Given the description of an element on the screen output the (x, y) to click on. 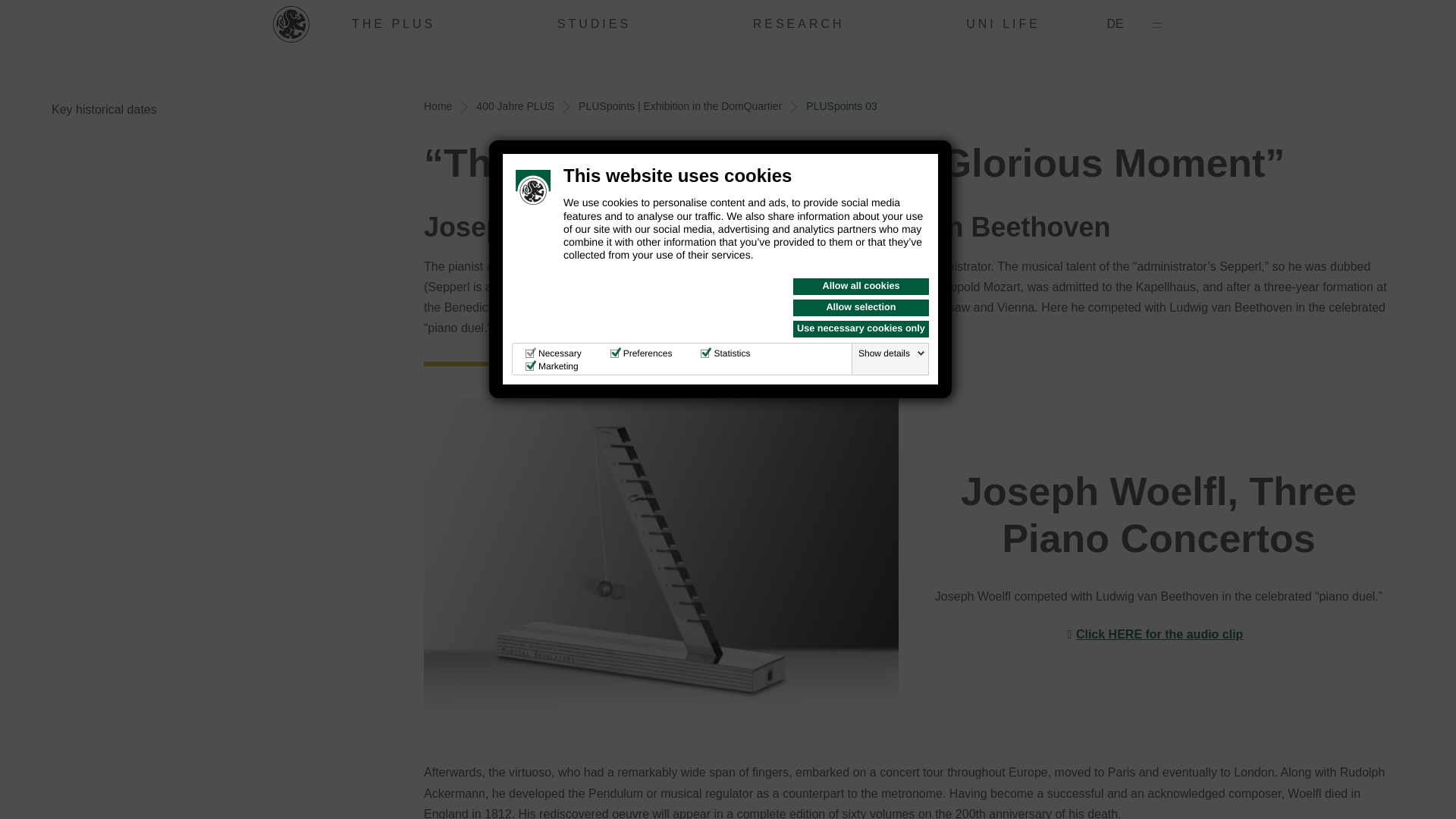
Use necessary cookies only (860, 329)
Show details (892, 353)
Allow selection (860, 307)
Allow all cookies (860, 286)
